Given the description of an element on the screen output the (x, y) to click on. 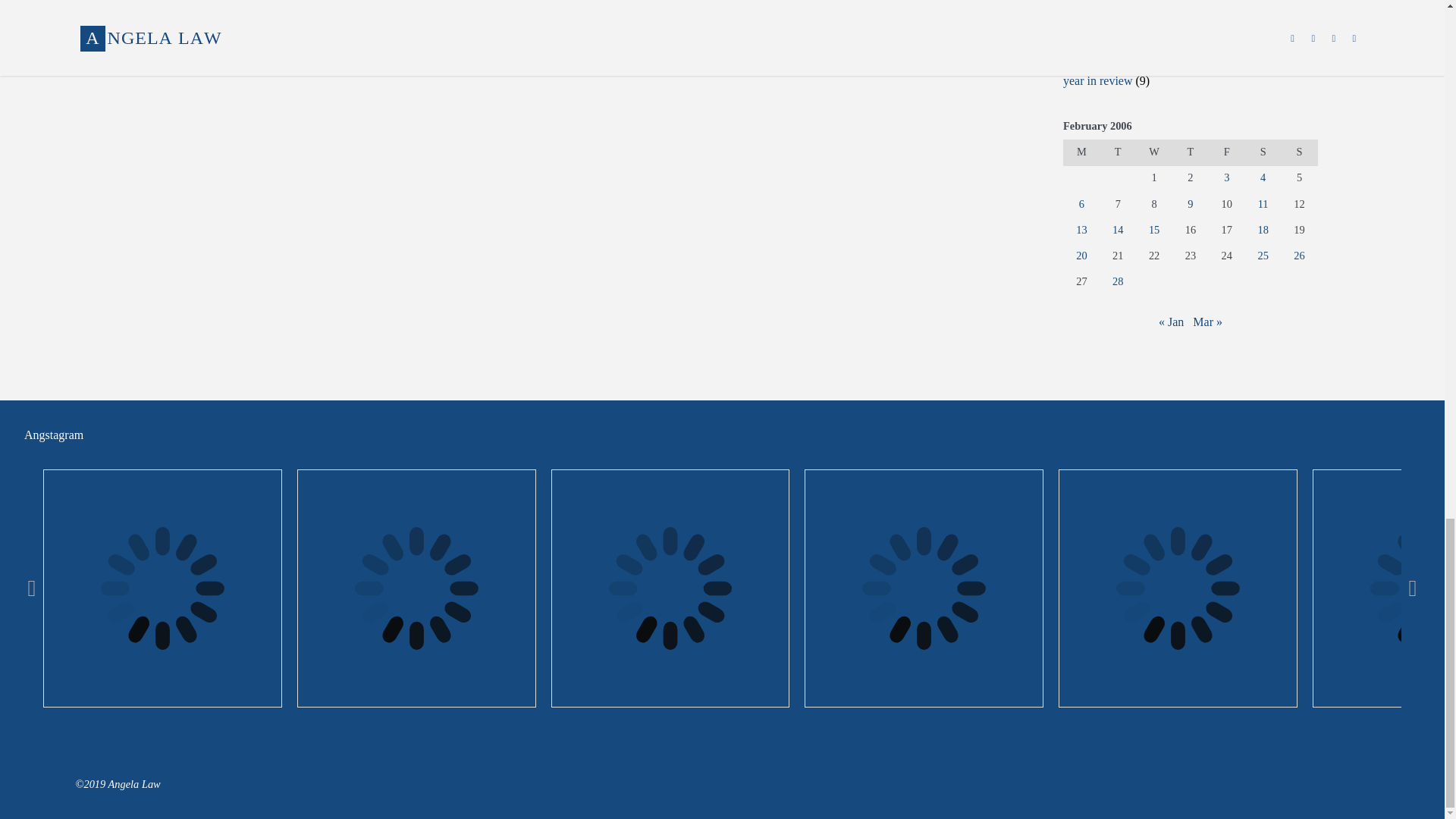
Monday (1080, 152)
